Given the description of an element on the screen output the (x, y) to click on. 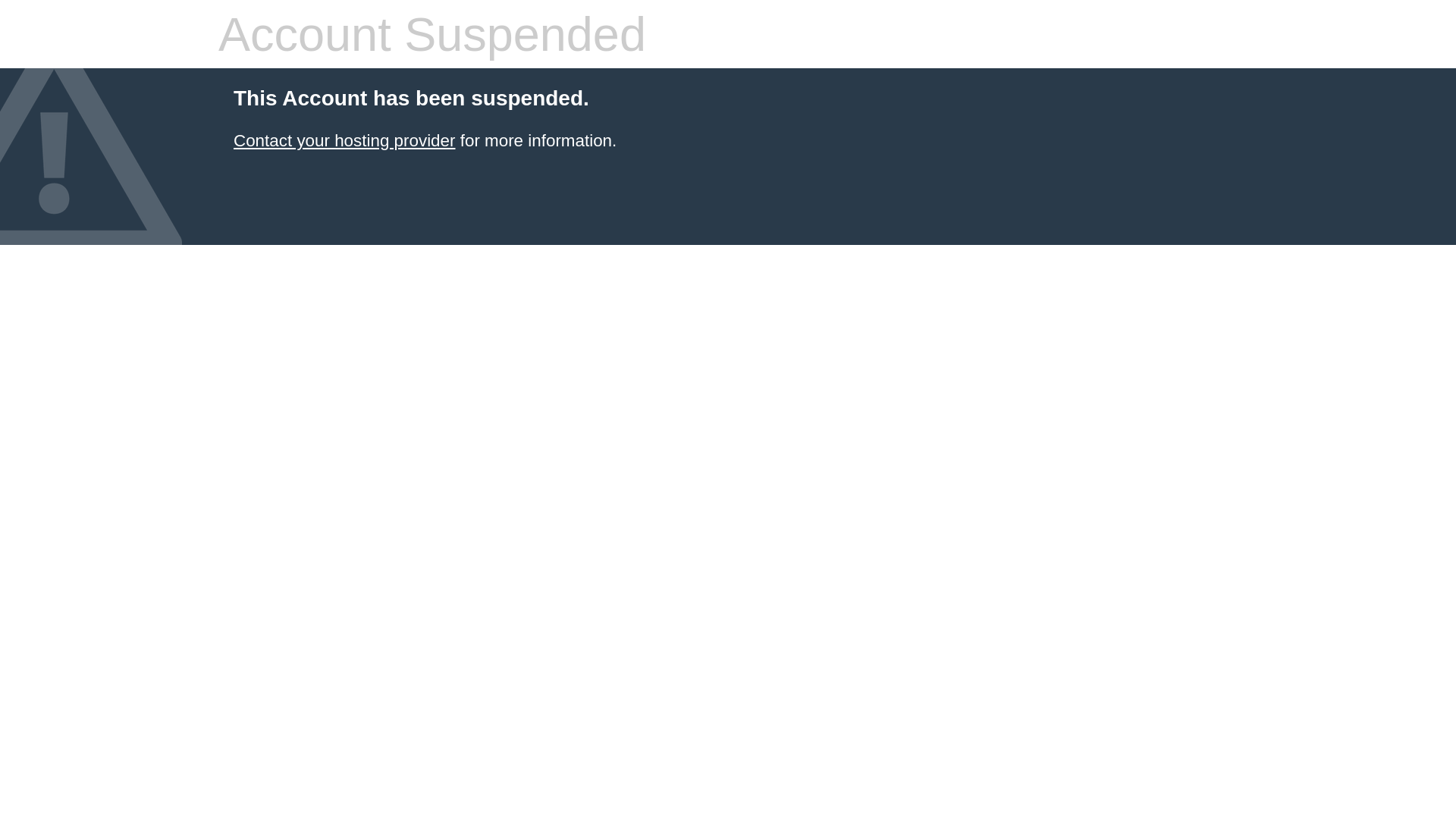
Contact your hosting provider Element type: text (344, 140)
